Given the description of an element on the screen output the (x, y) to click on. 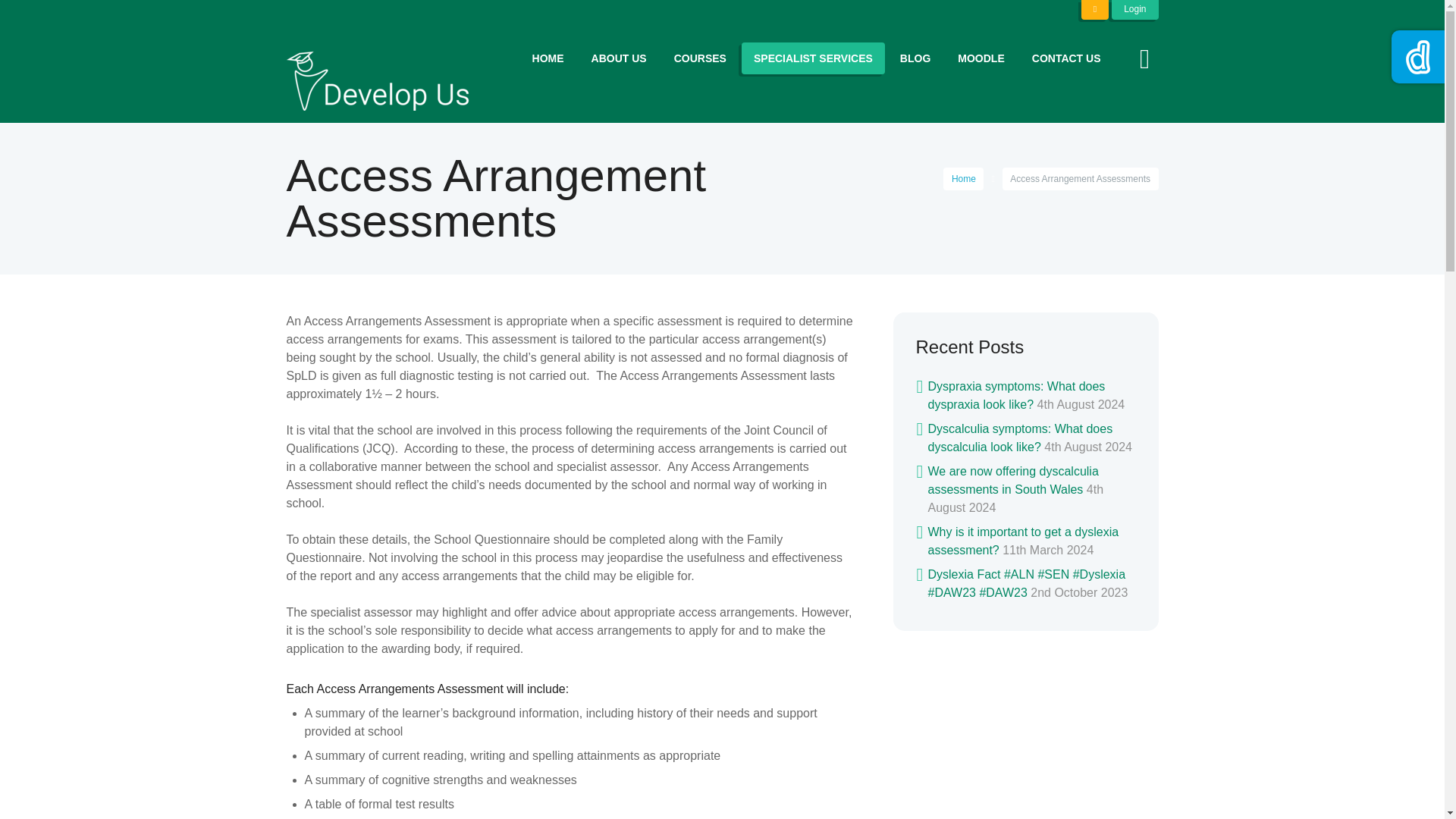
HOME (547, 58)
COURSES (700, 58)
ABOUT US (619, 58)
Show bookmarks (1094, 9)
SPECIALIST SERVICES (813, 58)
Login (1134, 9)
